Given the description of an element on the screen output the (x, y) to click on. 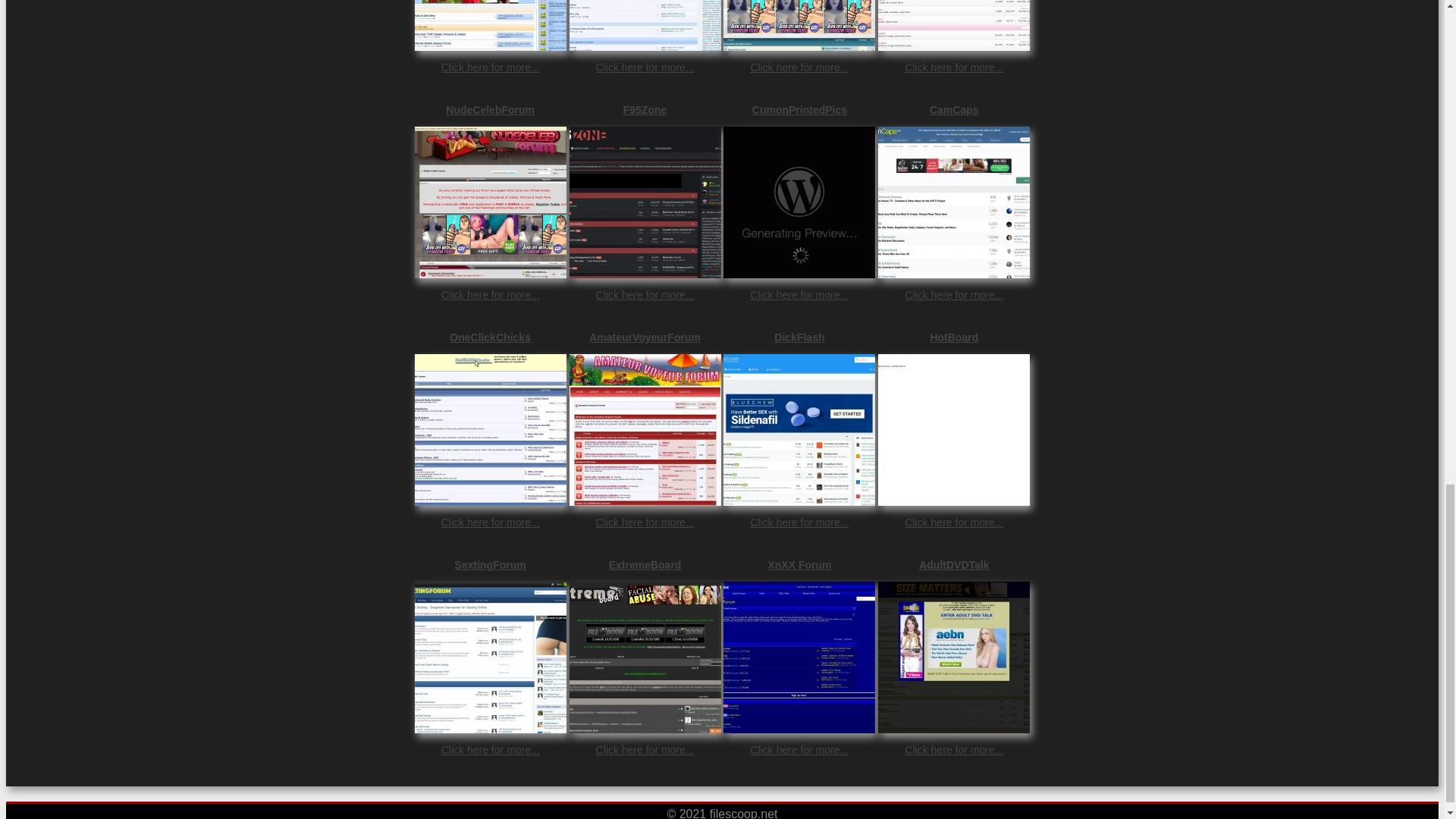
Click here for more... (953, 67)
Click here for more... (644, 295)
Click here for more... (798, 67)
Click here for more... (490, 67)
Click here for more... (798, 295)
Click here for more... (490, 295)
F95Zone (644, 110)
CumonPrintedPics (799, 110)
Click here for more... (644, 67)
CamCaps (953, 110)
NudeCelebForum (490, 110)
